Given the description of an element on the screen output the (x, y) to click on. 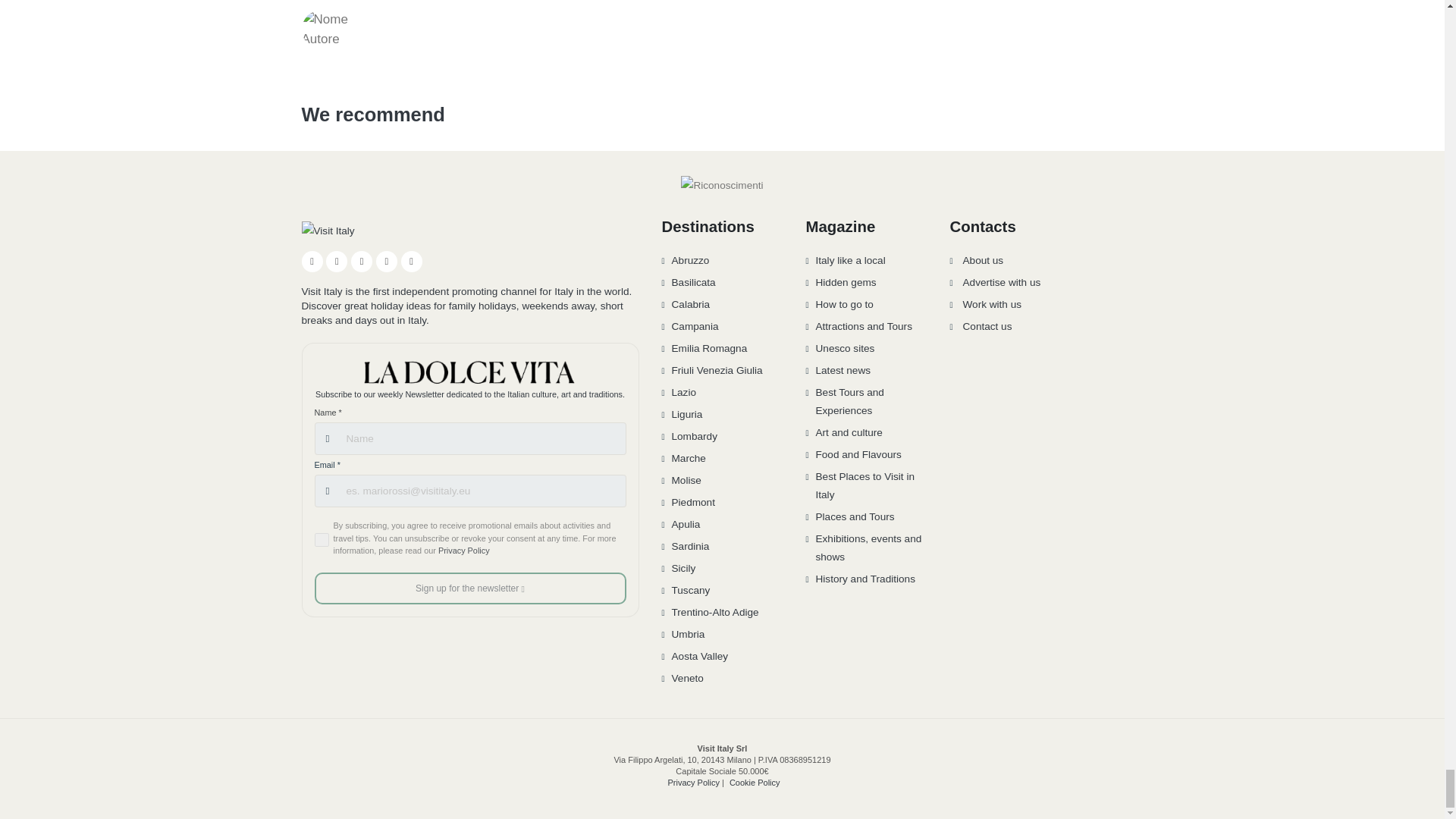
Instagram (336, 260)
TikTok (386, 260)
Facebook (312, 260)
Spotify (411, 260)
YouTube (361, 260)
